Given the description of an element on the screen output the (x, y) to click on. 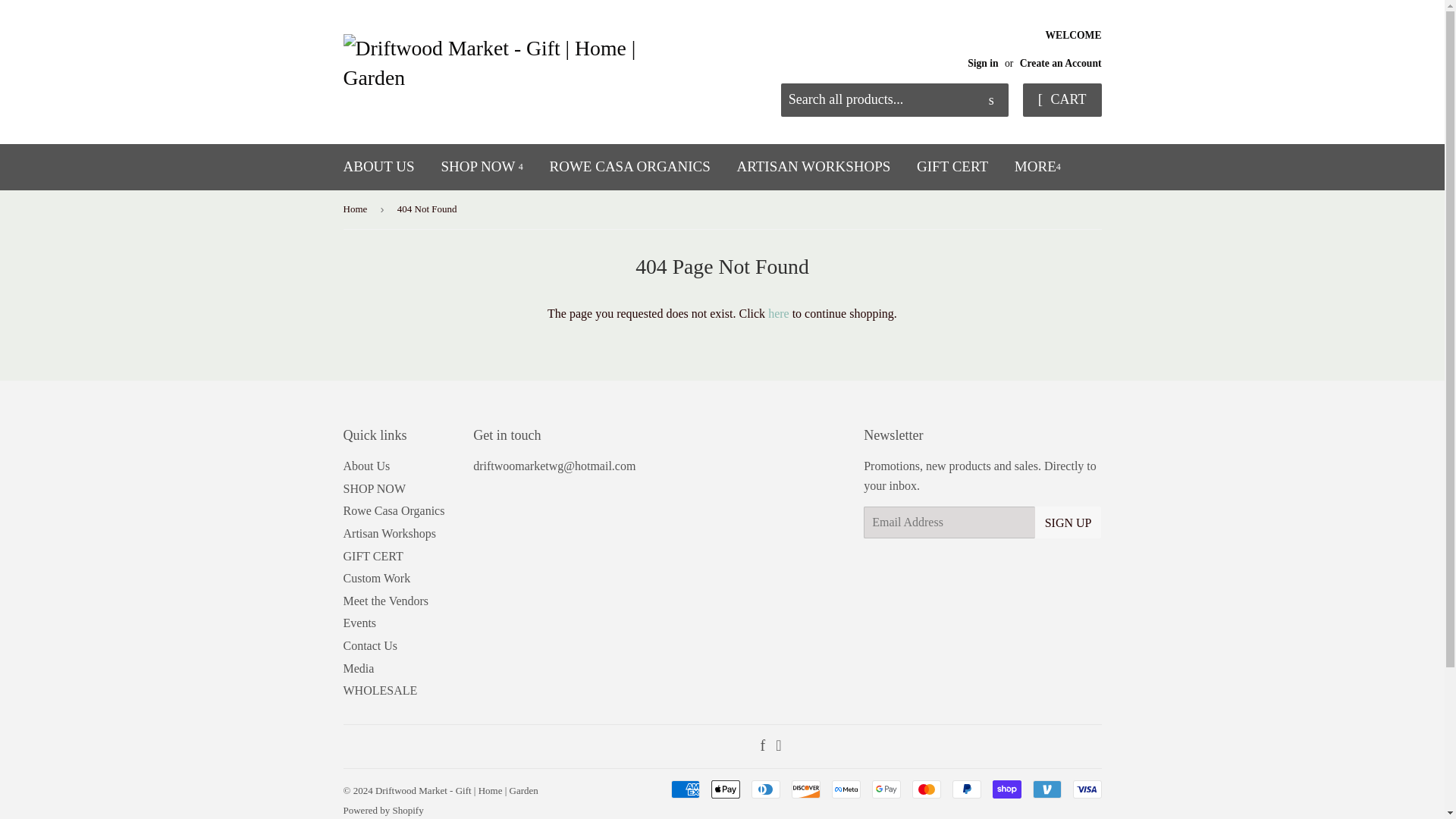
Diners Club (764, 789)
Search (991, 101)
Mastercard (925, 789)
Apple Pay (725, 789)
PayPal (966, 789)
American Express (683, 789)
Google Pay (886, 789)
Venmo (1046, 789)
WELCOME (1028, 47)
Sign in (982, 62)
Discover (806, 789)
Visa (1085, 789)
Meta Pay (845, 789)
Shop Pay (1005, 789)
CART (1062, 100)
